Given the description of an element on the screen output the (x, y) to click on. 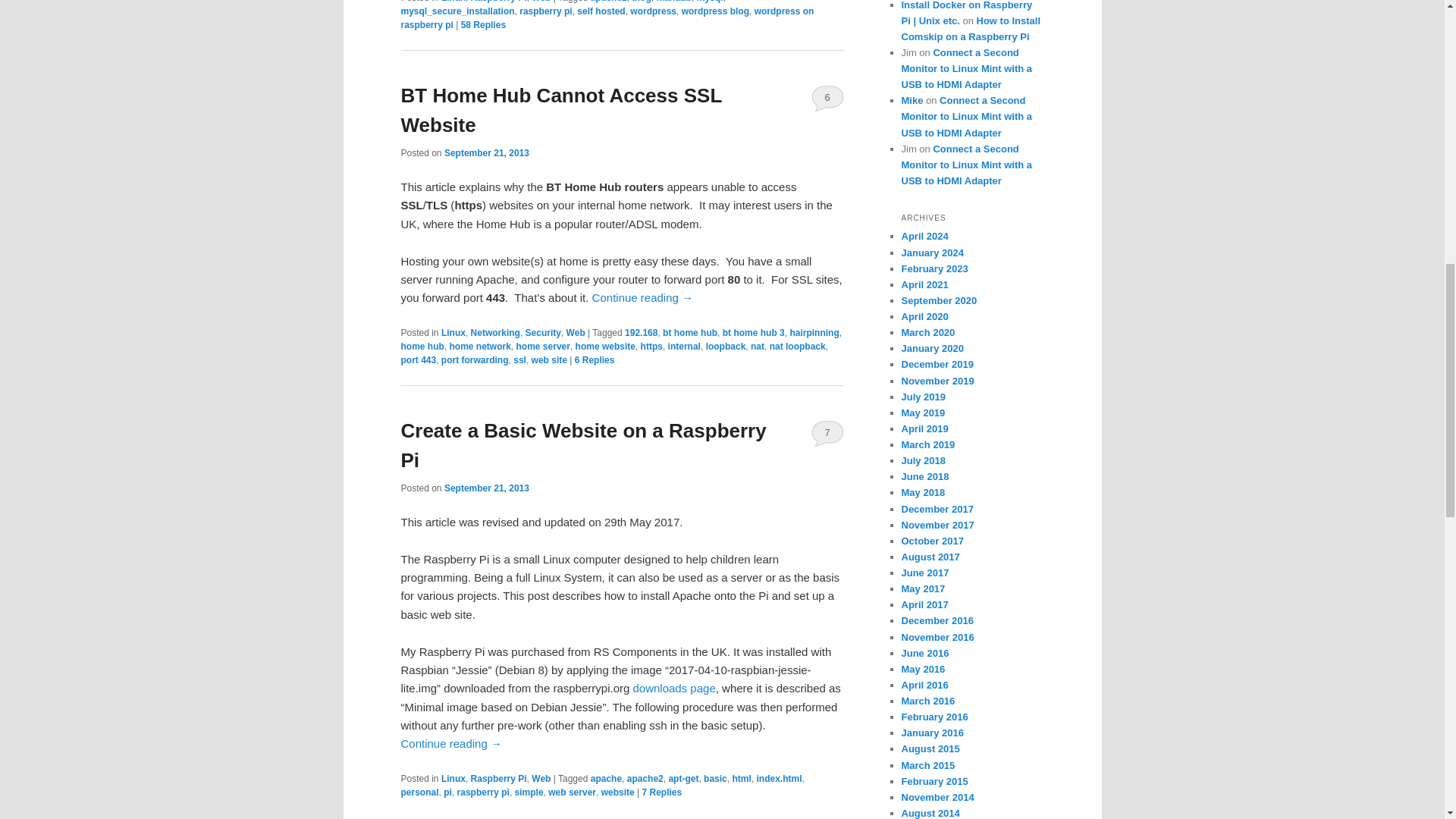
bt home hub (689, 332)
September 21, 2013 (486, 153)
6 (827, 97)
wordpress blog (715, 10)
5:54 pm (486, 153)
Web (540, 1)
raspberry pi (545, 10)
Linux (453, 1)
wordpress (653, 10)
self hosted (600, 10)
Security (542, 332)
Web (575, 332)
mariadb (673, 1)
Raspberry Pi (498, 1)
Networking (494, 332)
